Given the description of an element on the screen output the (x, y) to click on. 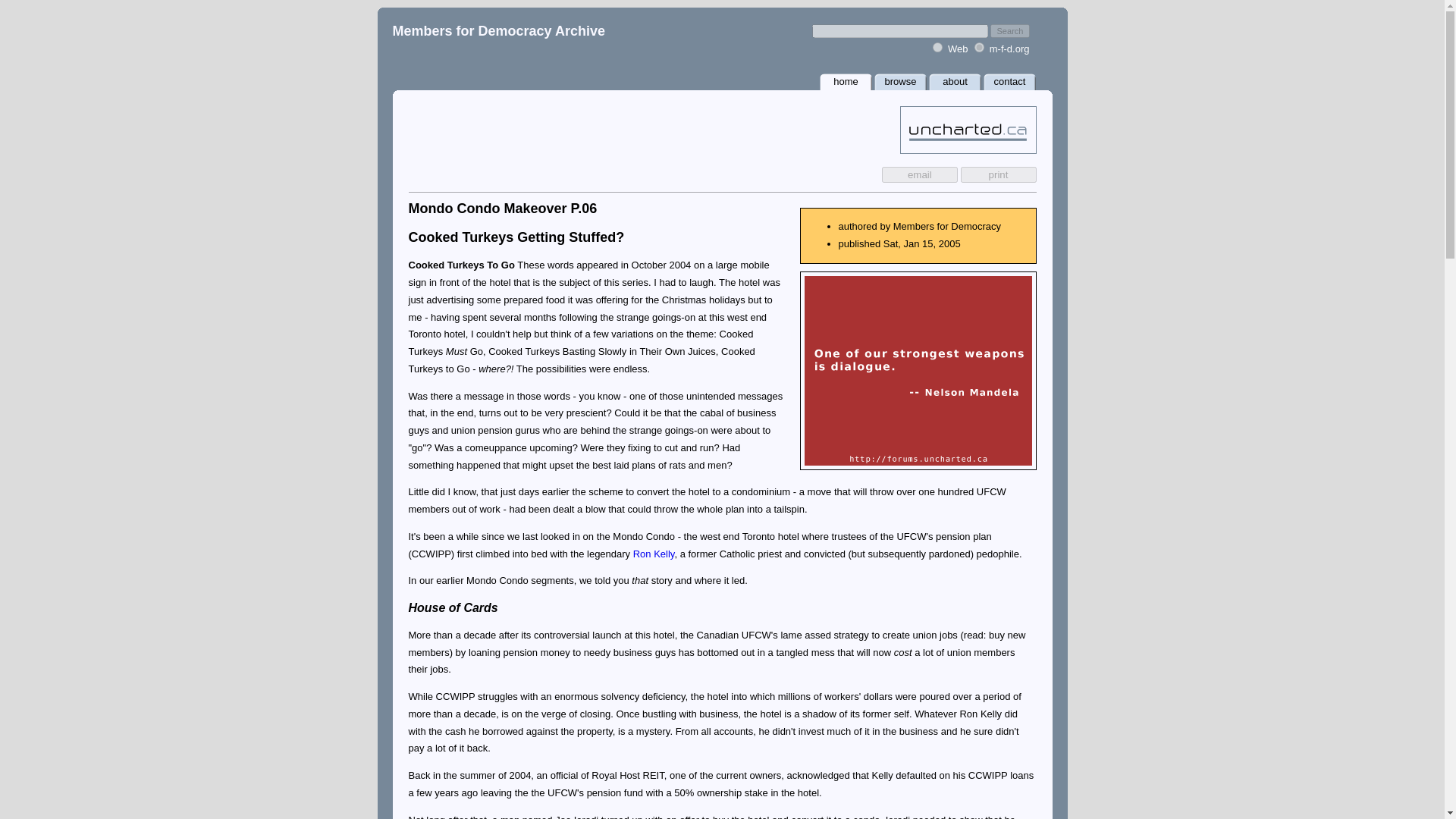
Members for Democracy Archive (499, 30)
browse (899, 81)
www.m-f-d.org (979, 47)
Search (1009, 30)
Ron Kelly (654, 553)
about (954, 81)
Advertisement (584, 128)
email (920, 174)
Advertisement (916, 371)
home (845, 81)
